Given the description of an element on the screen output the (x, y) to click on. 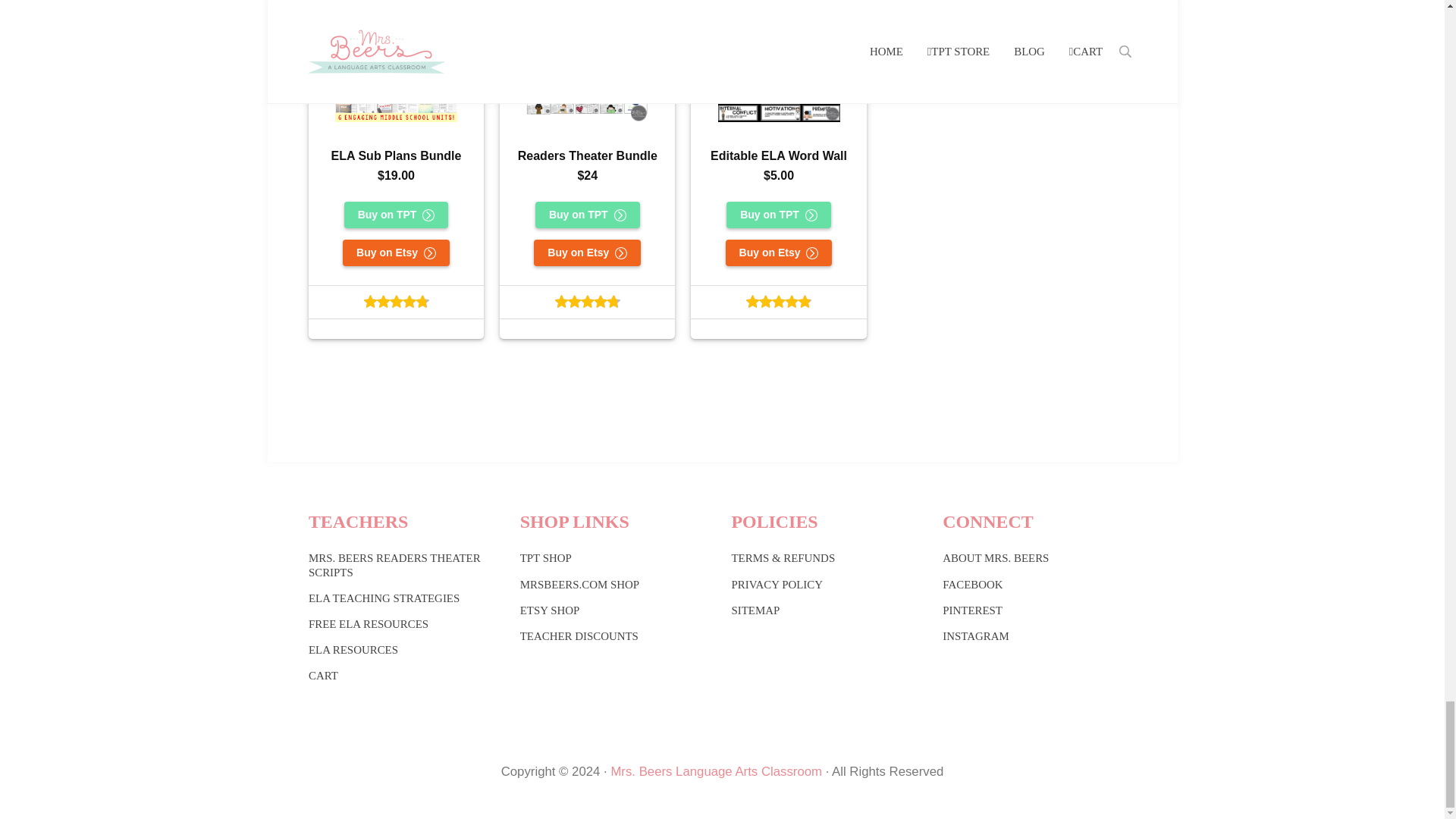
Buy on Etsy (587, 252)
Buy on TPT (587, 214)
Buy on TPT (395, 214)
Buy on Etsy (778, 252)
Buy on Etsy (395, 252)
Buy on TPT (778, 214)
